Given the description of an element on the screen output the (x, y) to click on. 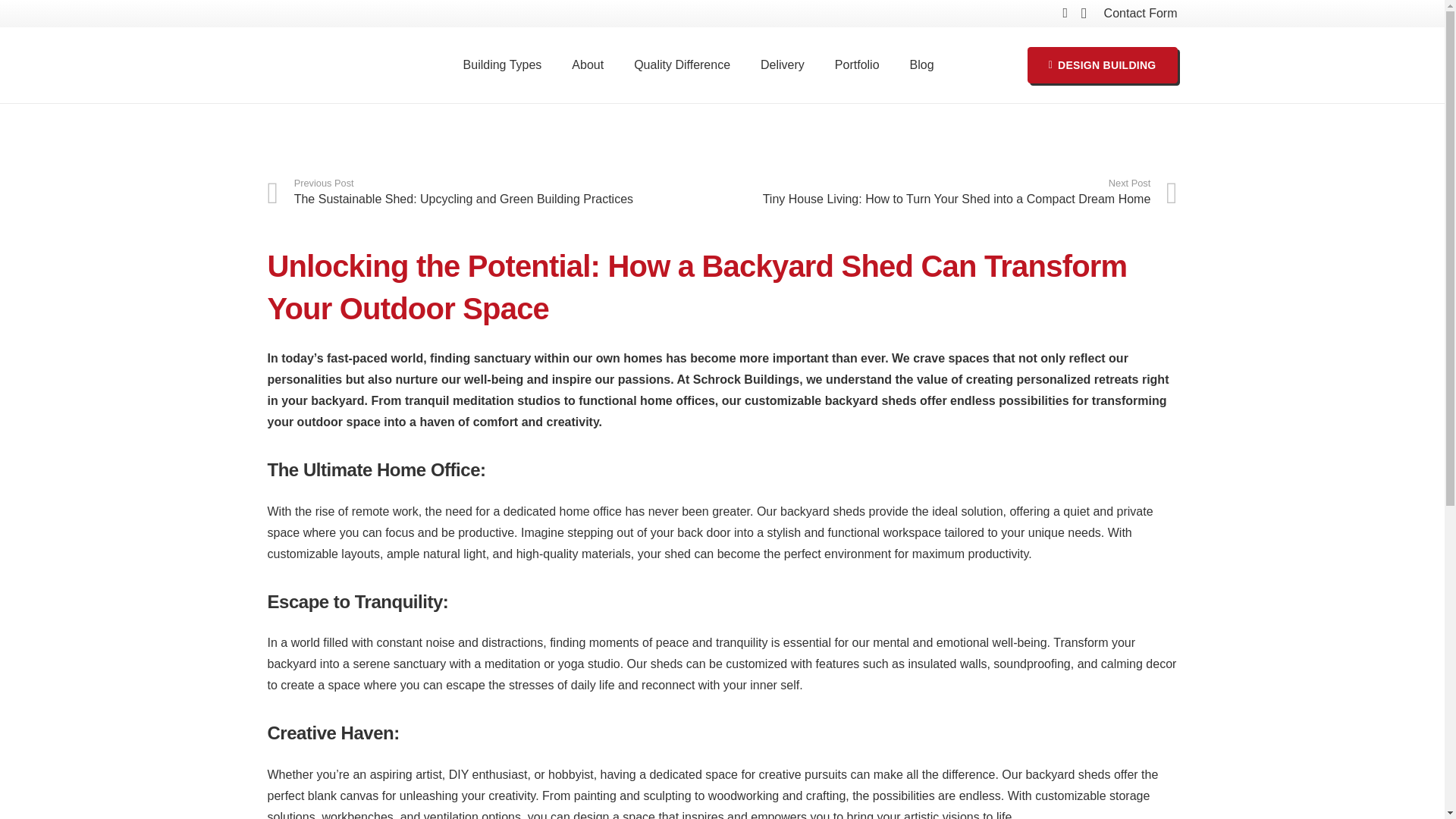
Portfolio (857, 65)
Privacy Policy (940, 625)
Quality Difference (681, 65)
The Sustainable Shed: Upcycling and Green Building Practices (494, 192)
Building Types (502, 65)
Blog (914, 567)
DESIGN BUILDING (1102, 64)
The Shed App (833, 783)
